Given the description of an element on the screen output the (x, y) to click on. 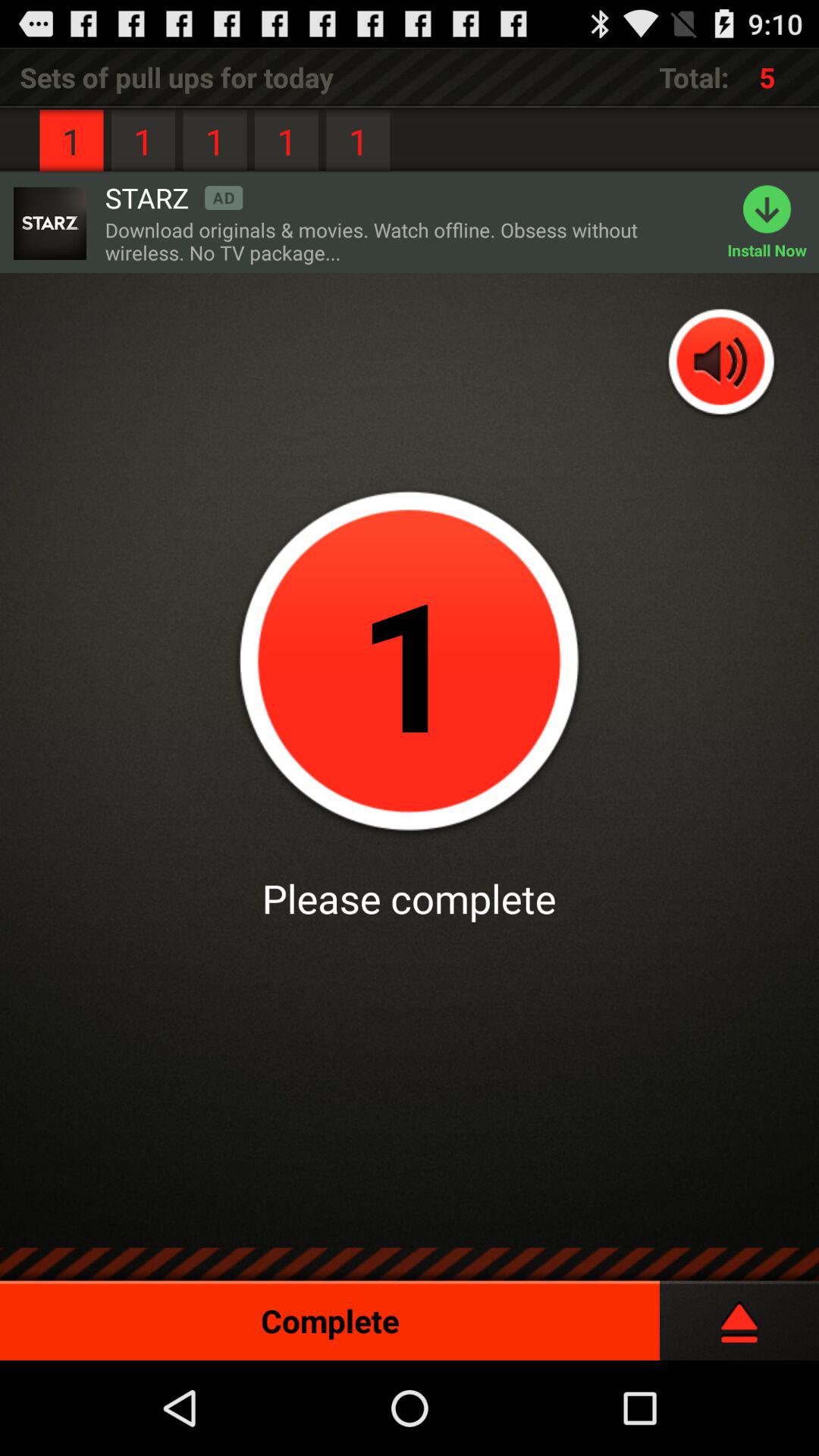
complete and close (739, 1314)
